Given the description of an element on the screen output the (x, y) to click on. 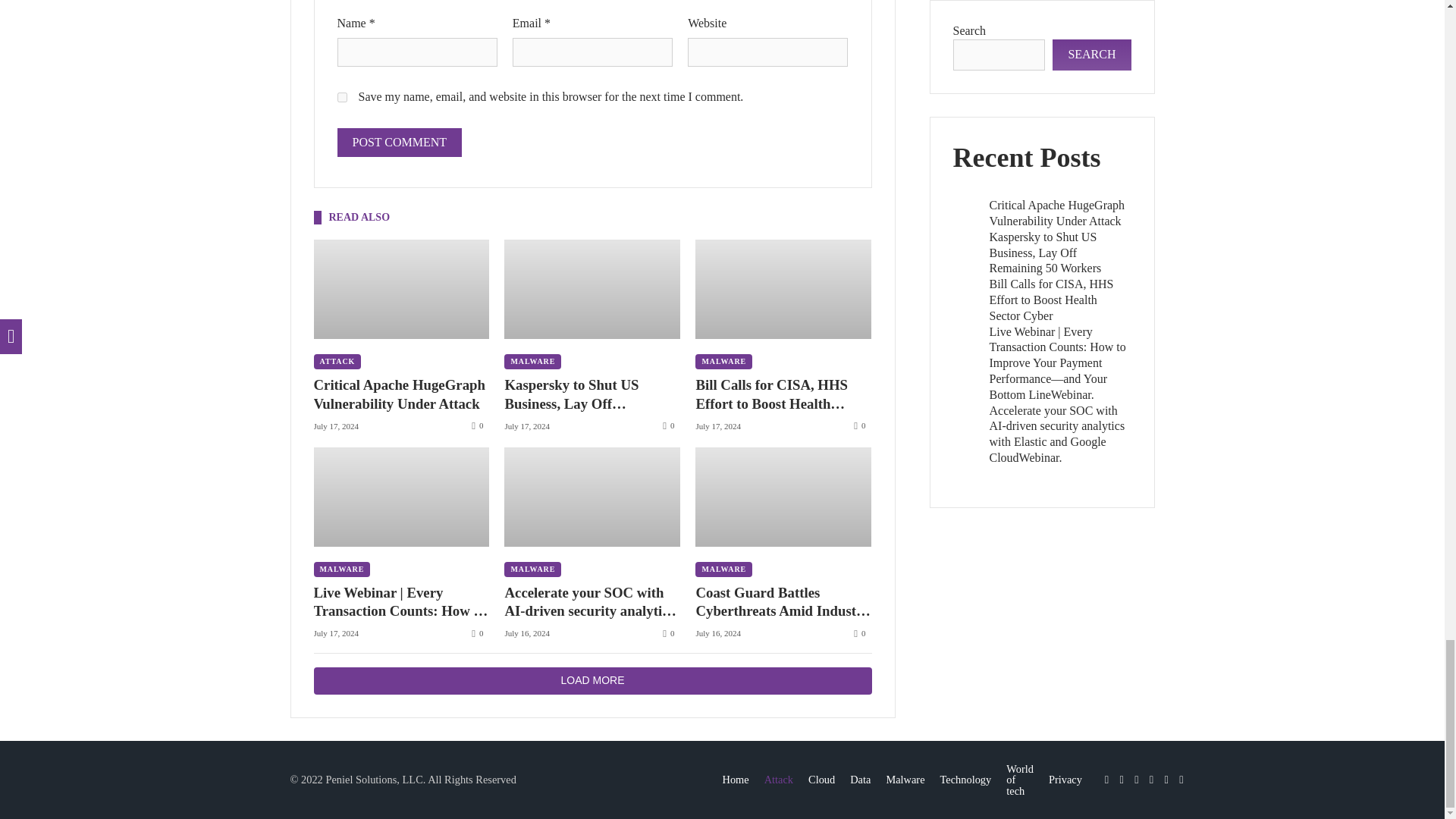
Post Comment (398, 142)
yes (341, 97)
